Given the description of an element on the screen output the (x, y) to click on. 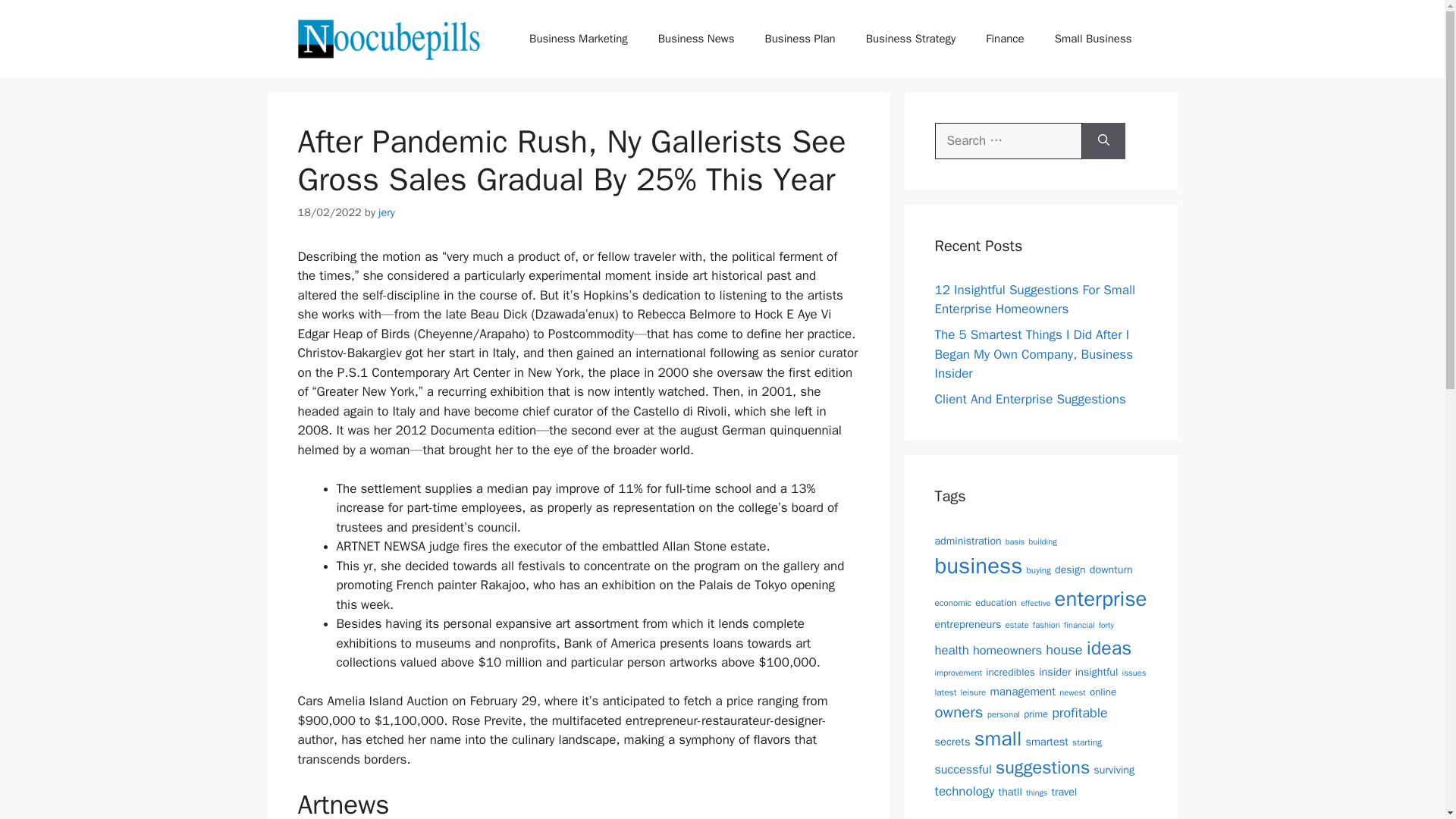
Finance (1005, 38)
Client And Enterprise Suggestions (1029, 399)
Search for: (1007, 140)
education (995, 603)
fashion (1045, 624)
economic (952, 602)
Business Marketing (578, 38)
enterprise (1100, 598)
design (1070, 569)
entrepreneurs (967, 623)
